Given the description of an element on the screen output the (x, y) to click on. 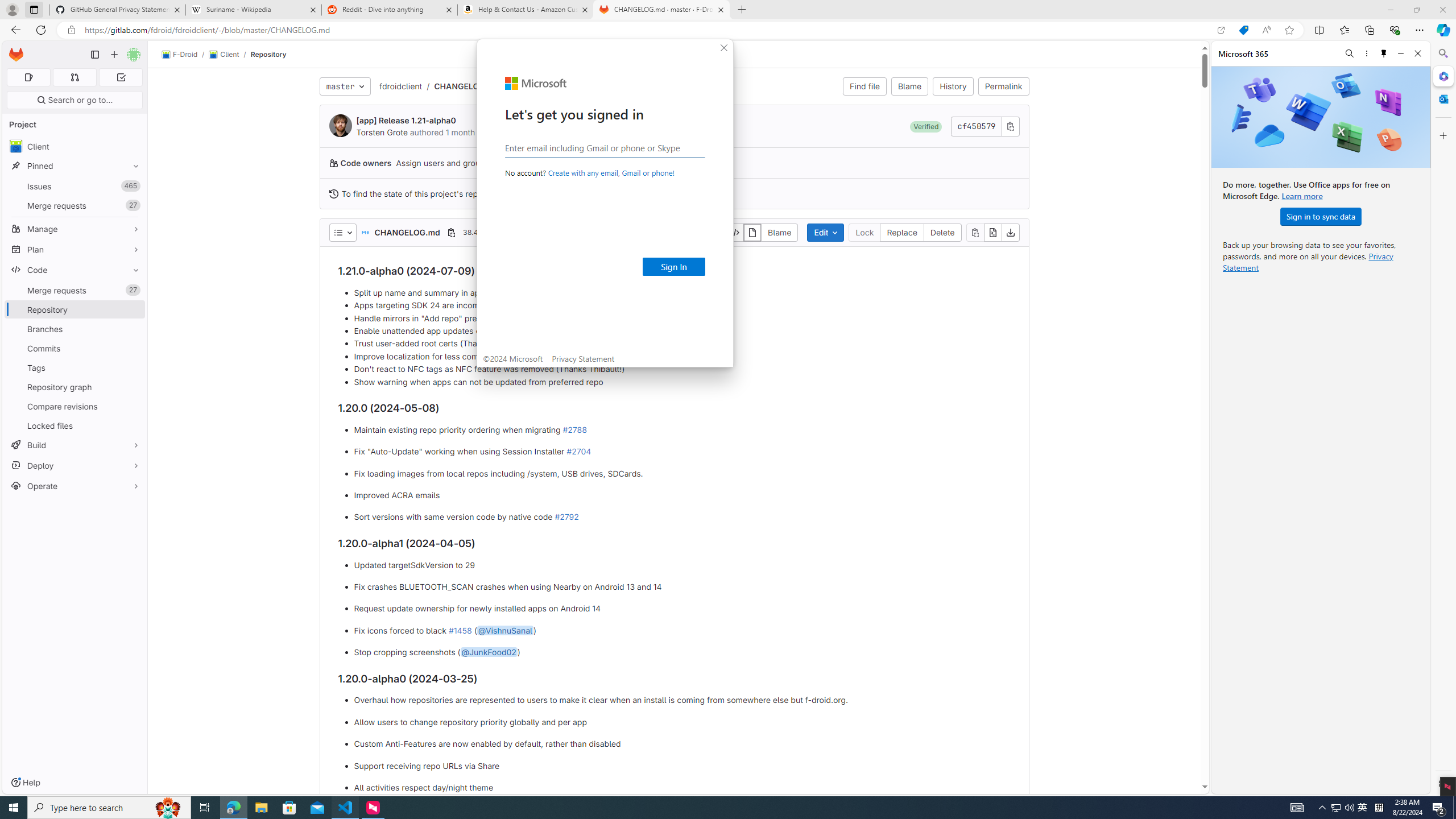
Explorer (Ctrl+Shift+E) (13, 33)
Toggle Secondary Side Bar (Ctrl+Alt+B) (1355, 9)
No Ports Forwarded (68, 789)
Spaces: 4 (1278, 789)
Match Case (Alt+C) (1239, 61)
auto.py (274, 29)
Match Whole Word (Alt+W) (1251, 61)
Run Python File (1405, 29)
Toggle Replace (1140, 61)
Warnings: 9 (37, 789)
Testing (13, 169)
Accounts (13, 742)
Output (Ctrl+Shift+U) (254, 539)
Go (134, 9)
